Given the description of an element on the screen output the (x, y) to click on. 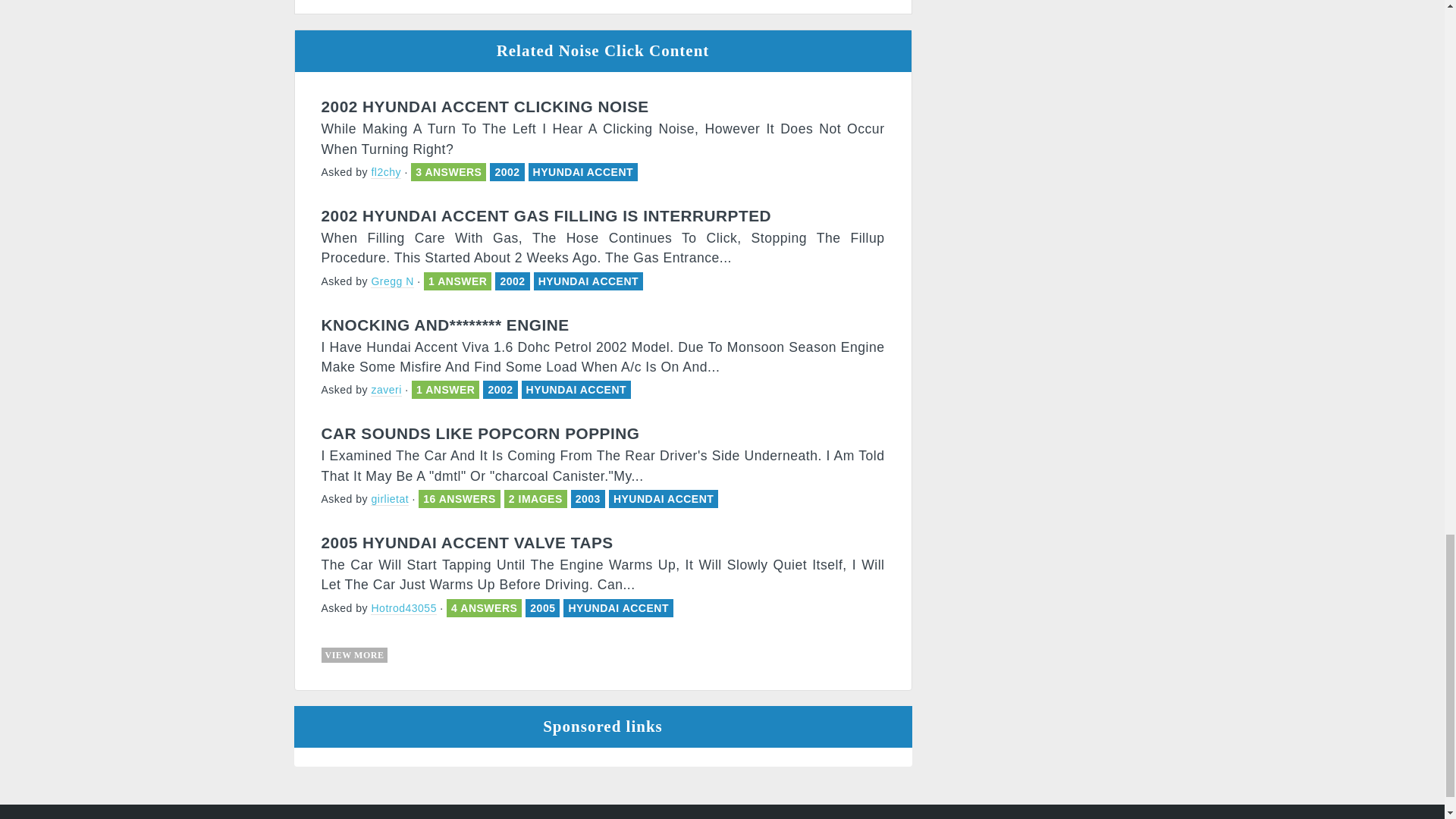
HYUNDAI ACCENT (588, 281)
fl2chy (386, 172)
zaveri (386, 390)
girlietat (390, 499)
HYUNDAI ACCENT (662, 499)
HYUNDAI ACCENT (575, 389)
HYUNDAI ACCENT (582, 172)
Gregg N (392, 281)
